Given the description of an element on the screen output the (x, y) to click on. 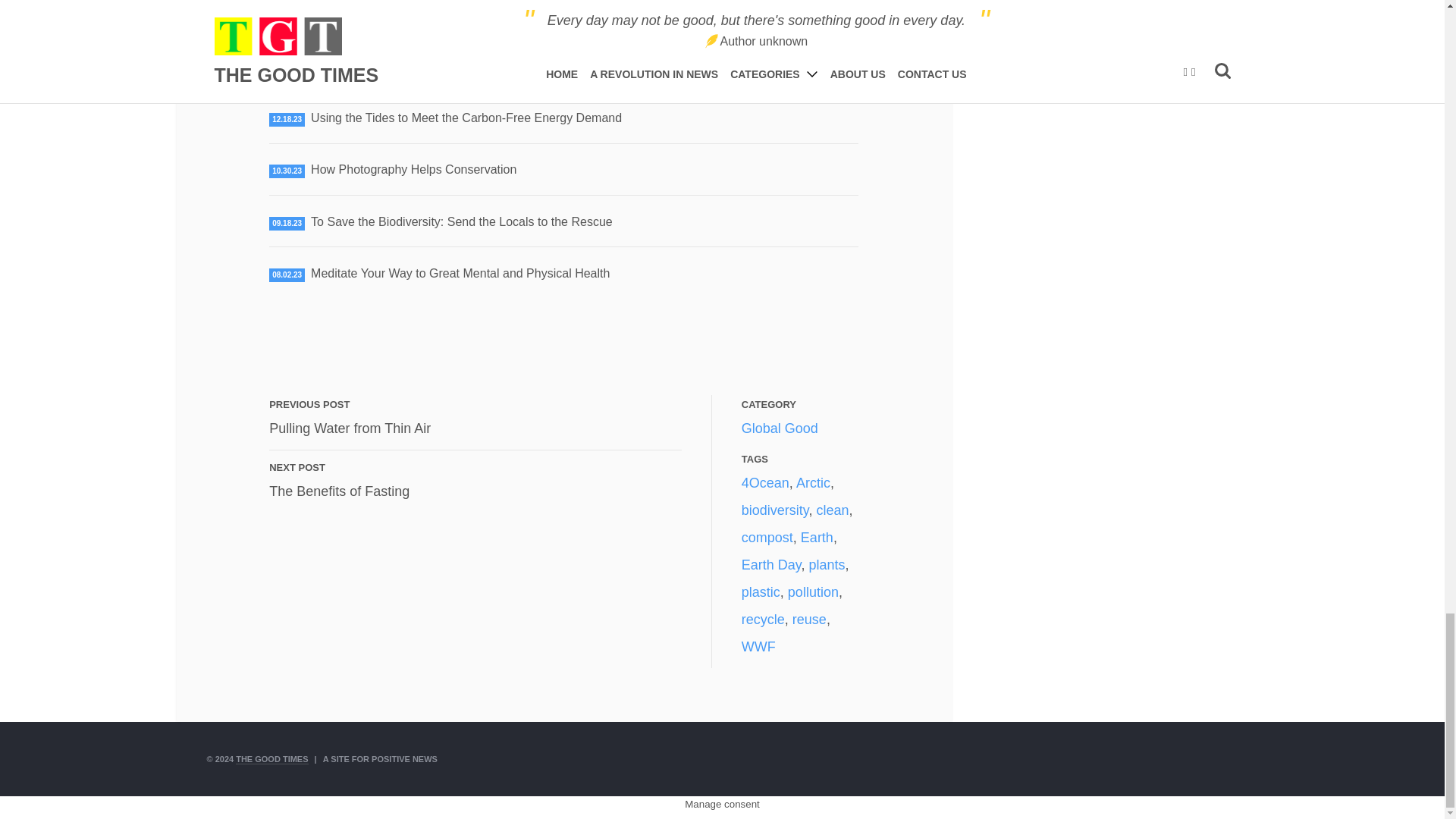
4Ocean (349, 427)
Meditate Your Way to Great Mental and Physical Health (765, 482)
How Photography Helps Conservation (339, 491)
Using the Tides to Meet the Carbon-Free Energy Demand (460, 273)
The Successes of COP28 (413, 169)
To Save the Biodiversity: Send the Locals to the Rescue (466, 117)
Global Good (380, 65)
